Given the description of an element on the screen output the (x, y) to click on. 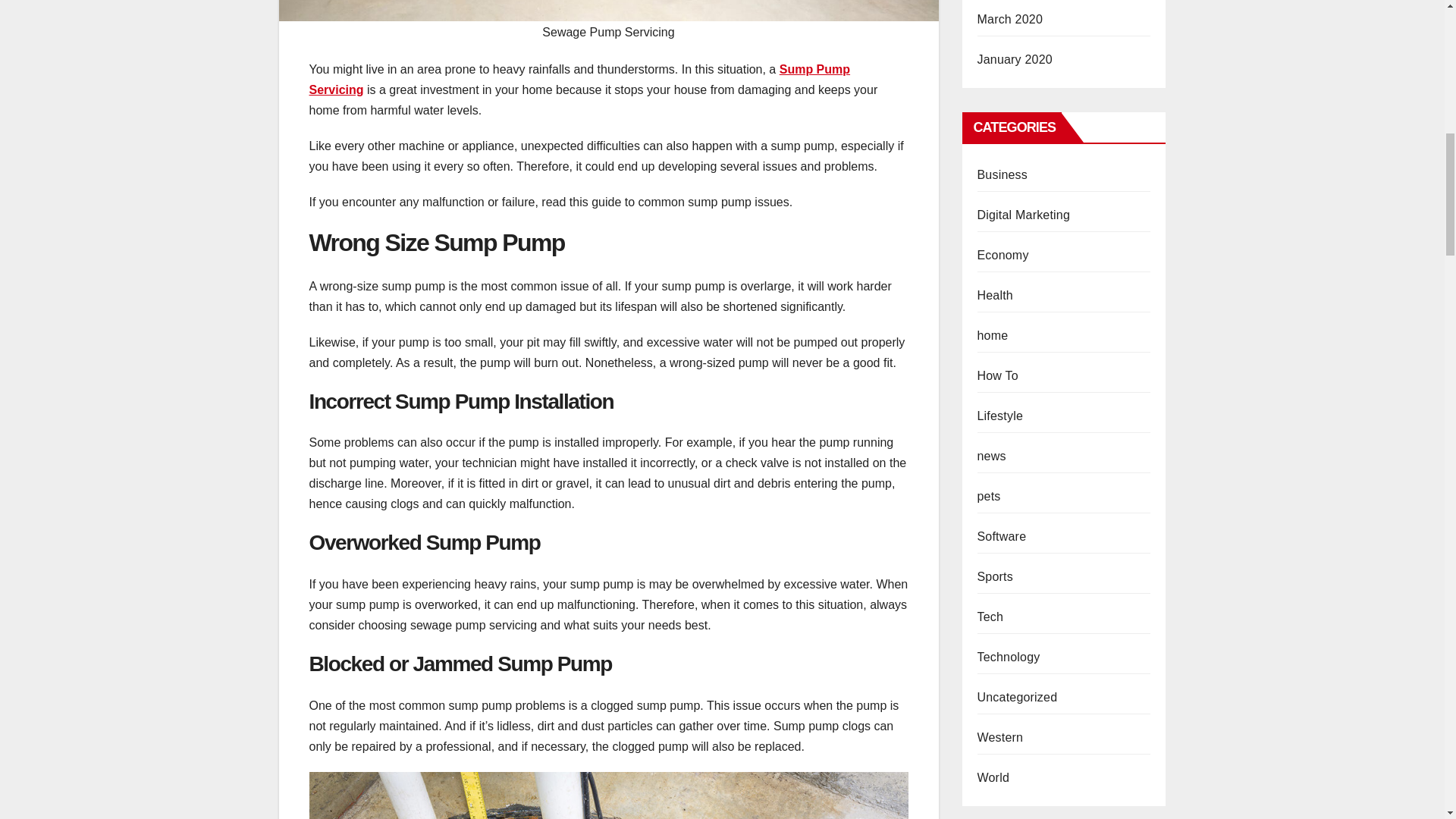
Sump Pump Servicing (579, 79)
